Given the description of an element on the screen output the (x, y) to click on. 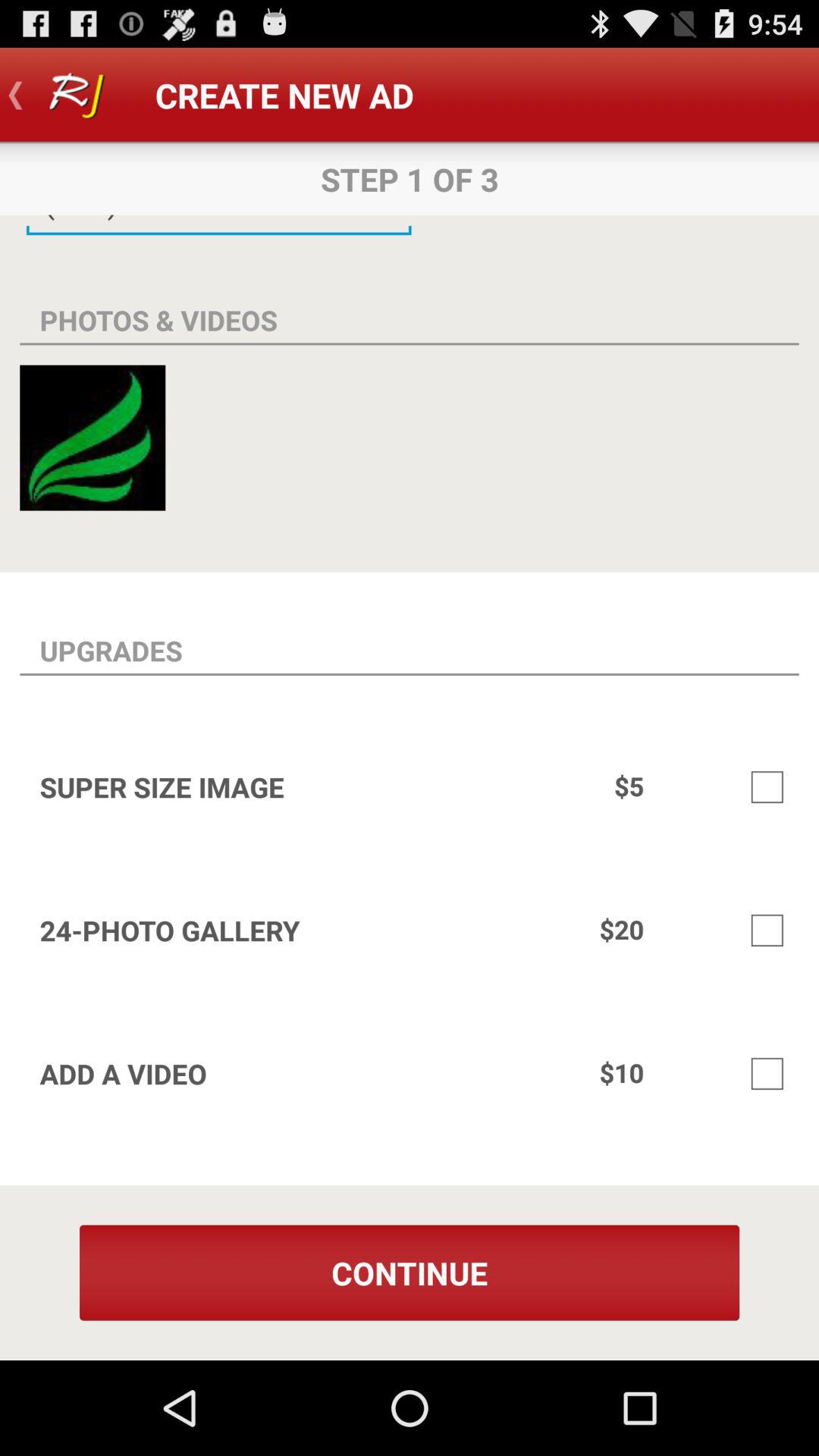
choose 24-photo gallery option (767, 930)
